Given the description of an element on the screen output the (x, y) to click on. 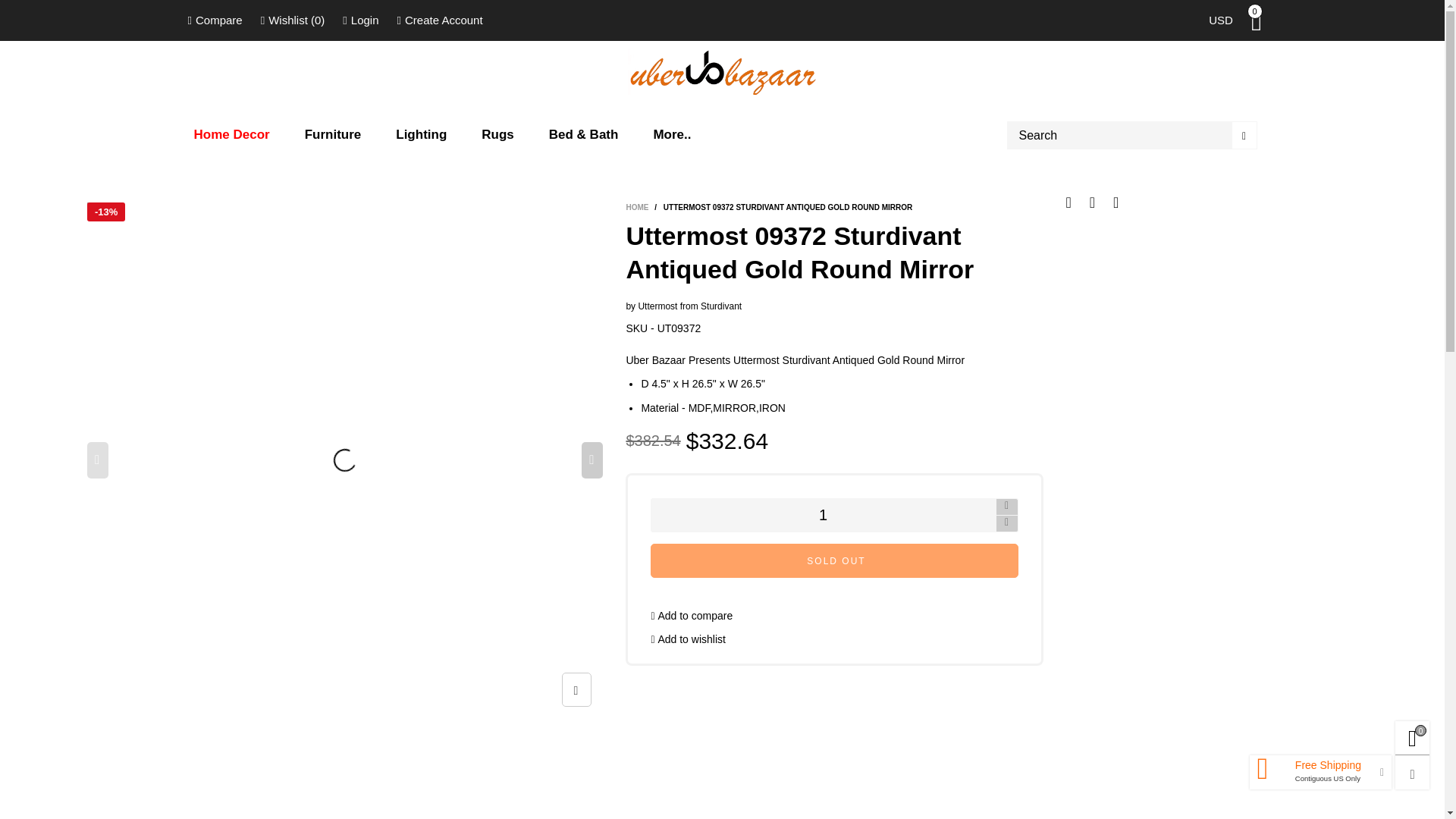
Create Account (440, 20)
Sign In (214, 192)
Wishlist (292, 20)
Compare (215, 20)
My Account (360, 20)
Login (360, 20)
Currency (1220, 20)
1 (822, 514)
Compare (215, 20)
USD (1220, 20)
